Given the description of an element on the screen output the (x, y) to click on. 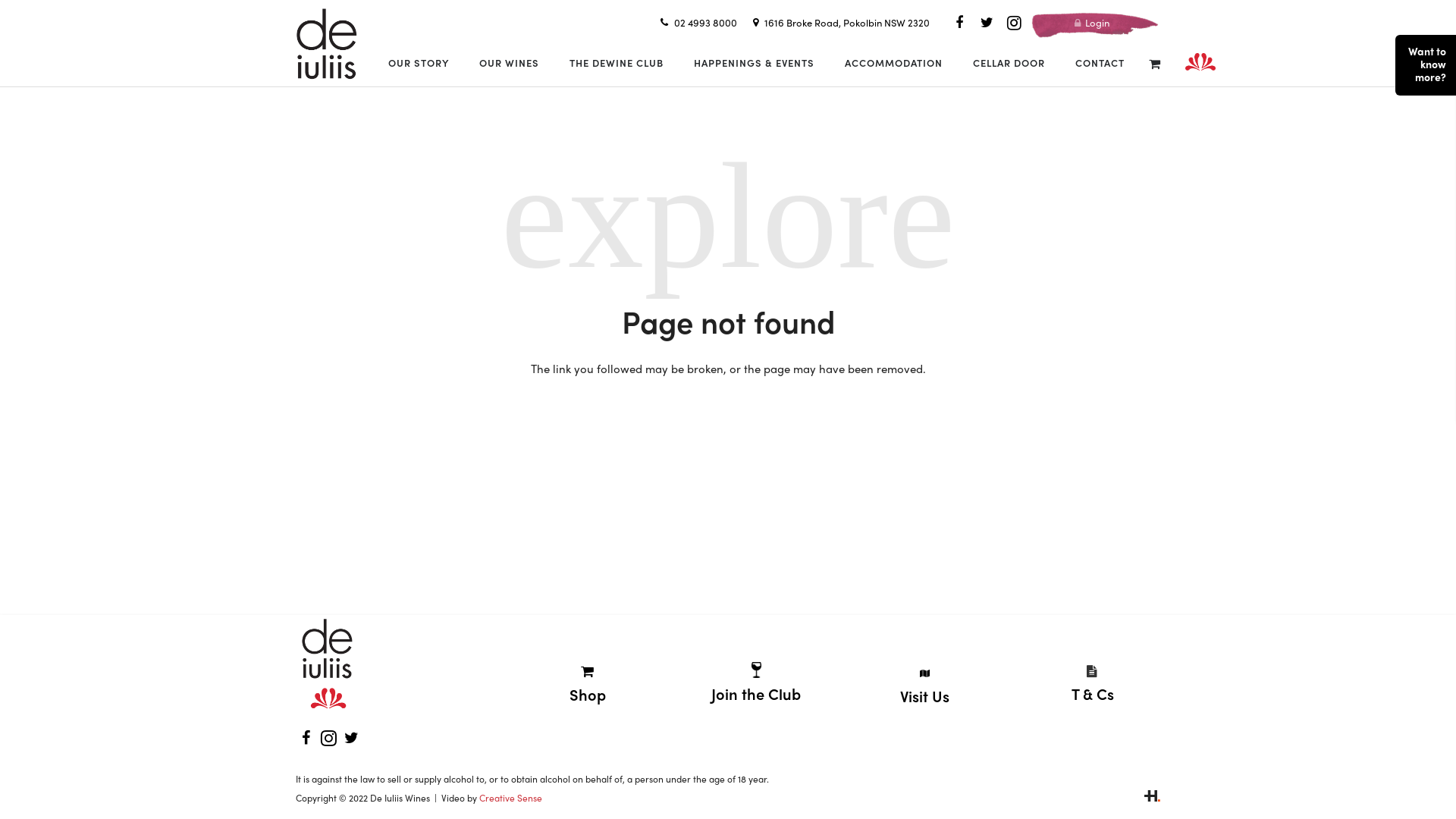
T & Cs Element type: text (1092, 693)
OUR STORY Element type: text (418, 62)
Shop Element type: text (587, 694)
Creative Sense Element type: text (510, 797)
Login Element type: text (1091, 22)
THE DEWINE CLUB Element type: text (616, 62)
OUR WINES Element type: text (509, 62)
Join the Club Element type: text (755, 693)
CONTACT Element type: text (1099, 62)
ACCOMMODATION Element type: text (893, 62)
Visit Us Element type: text (924, 695)
CELLAR DOOR Element type: text (1008, 62)
Website by HyperWeb Element type: hover (1152, 797)
0 Element type: text (1154, 61)
HAPPENINGS & EVENTS Element type: text (753, 62)
